Given the description of an element on the screen output the (x, y) to click on. 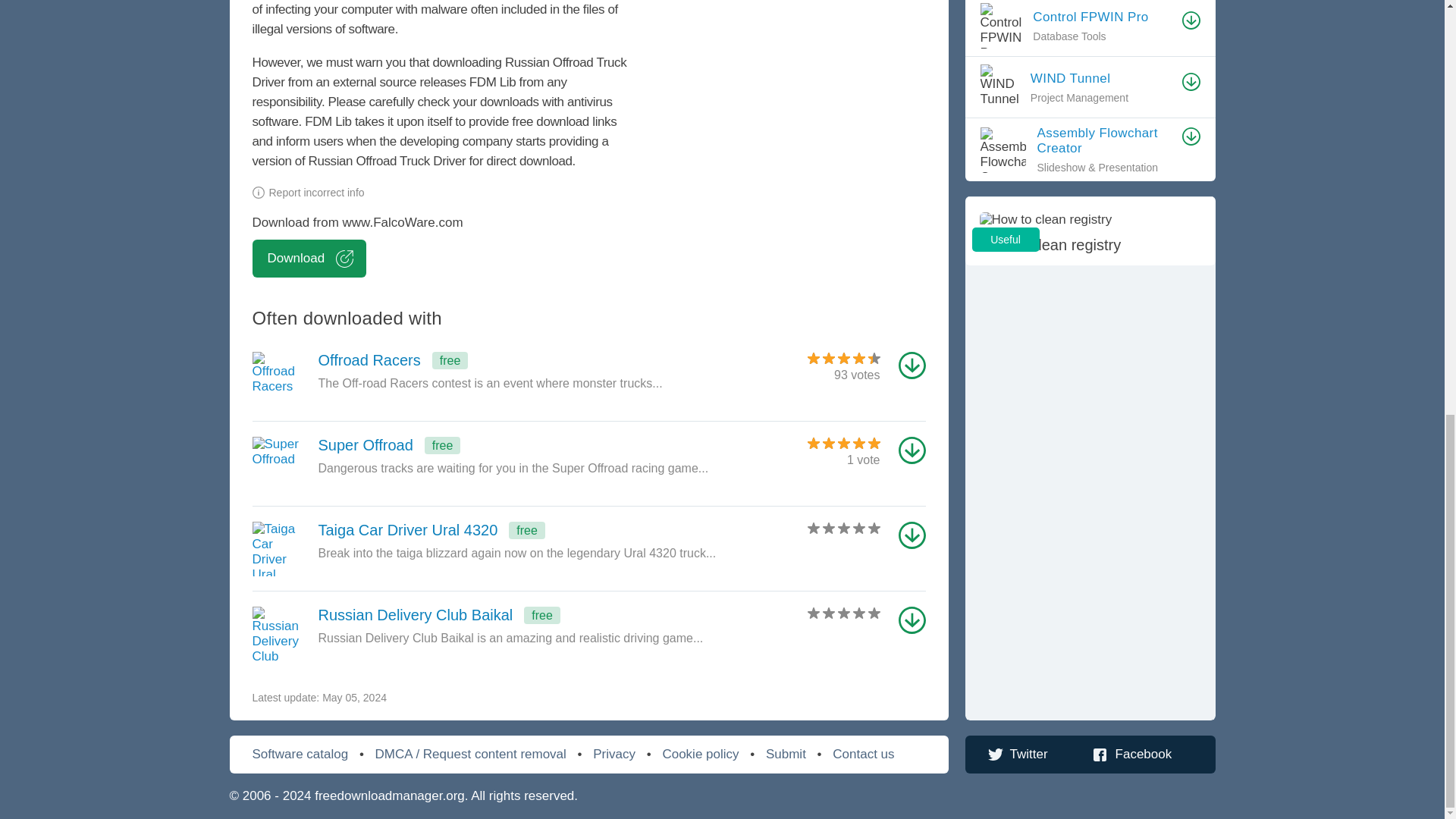
Russian Delivery Club Baikal (521, 618)
Taiga Car Driver Ural 4320 (521, 533)
WIND Tunnel (1101, 77)
Super Offroad (521, 448)
Offroad Racers (521, 448)
Control FPWIN Pro (521, 363)
How to clean registry (1102, 17)
Assembly Flowchart Creator (1088, 230)
